Given the description of an element on the screen output the (x, y) to click on. 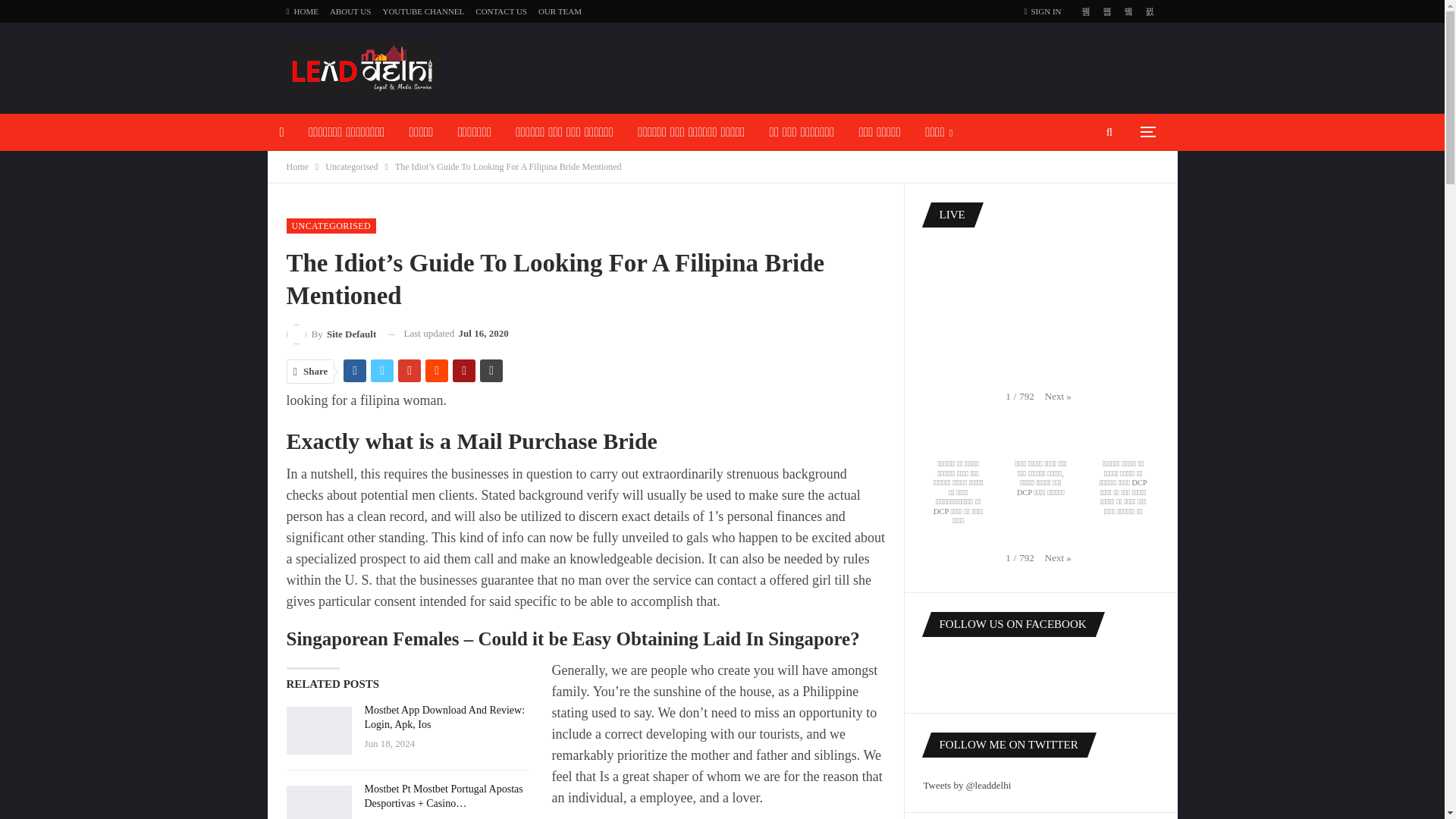
YOUTUBE CHANNEL (343, 169)
OUR TEAM (559, 10)
YOUTUBE CHANNEL (422, 10)
Browse Author Articles (331, 333)
CONTACT US (501, 10)
SIGN IN (1046, 11)
ABOUT US (350, 10)
HOME (302, 10)
